Given the description of an element on the screen output the (x, y) to click on. 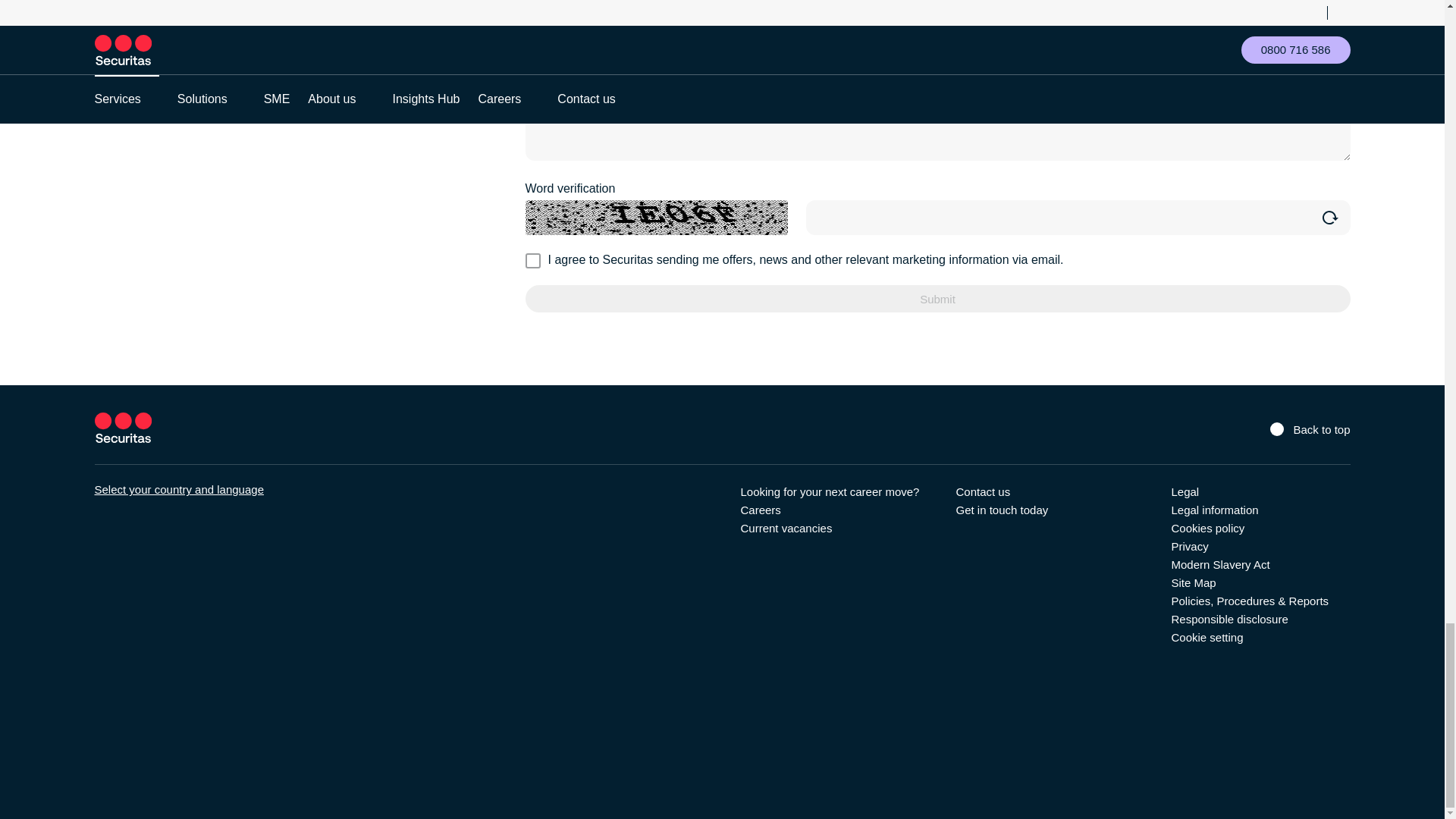
Legal information (1213, 509)
Postcode (936, 5)
Get in touch today (1001, 509)
Modern Slavery Act (1219, 563)
Select your country and language (178, 489)
Current vacancies (785, 527)
Privacy (1189, 545)
What services are you interested in? (936, 103)
Careers (759, 509)
Click here to send (936, 298)
